Given the description of an element on the screen output the (x, y) to click on. 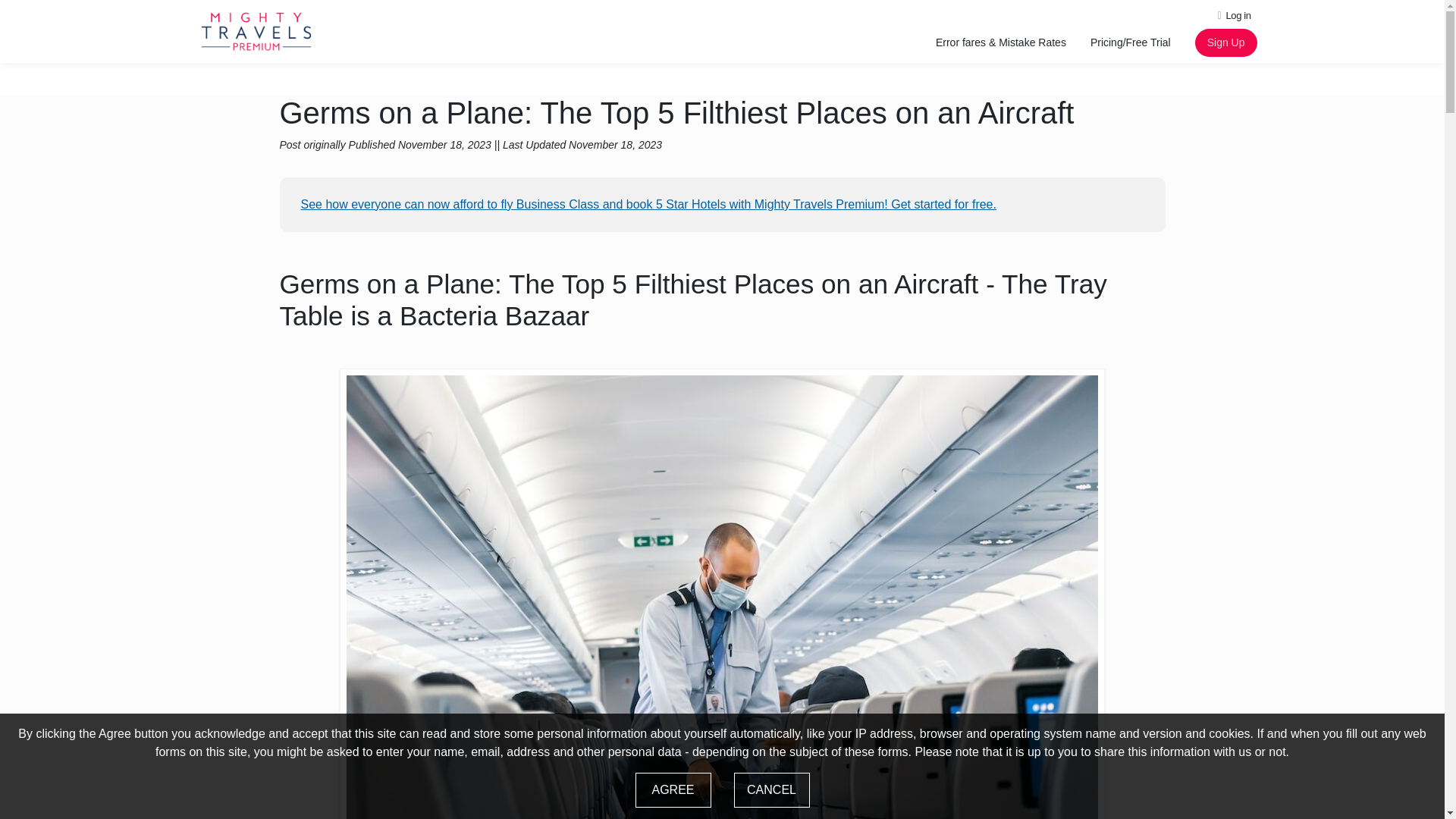
Log in (1234, 15)
Sign Up (1226, 42)
